Given the description of an element on the screen output the (x, y) to click on. 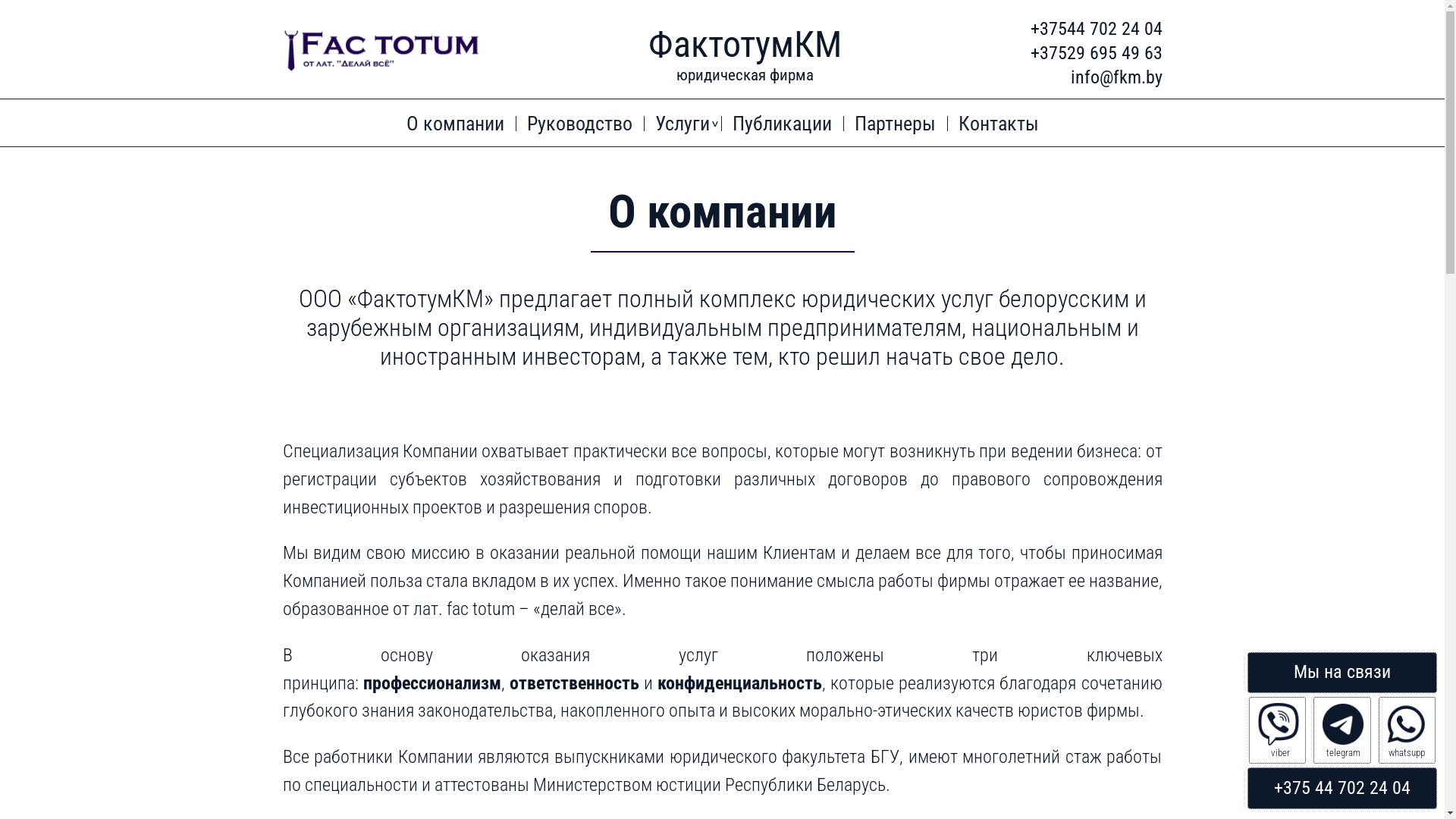
      viber Element type: text (1276, 729)
info@fkm.by Element type: text (1116, 76)
 whatsupp Element type: text (1406, 729)
  telegram Element type: text (1341, 729)
+375 44 702 24 04 Element type: text (1342, 787)
